Given the description of an element on the screen output the (x, y) to click on. 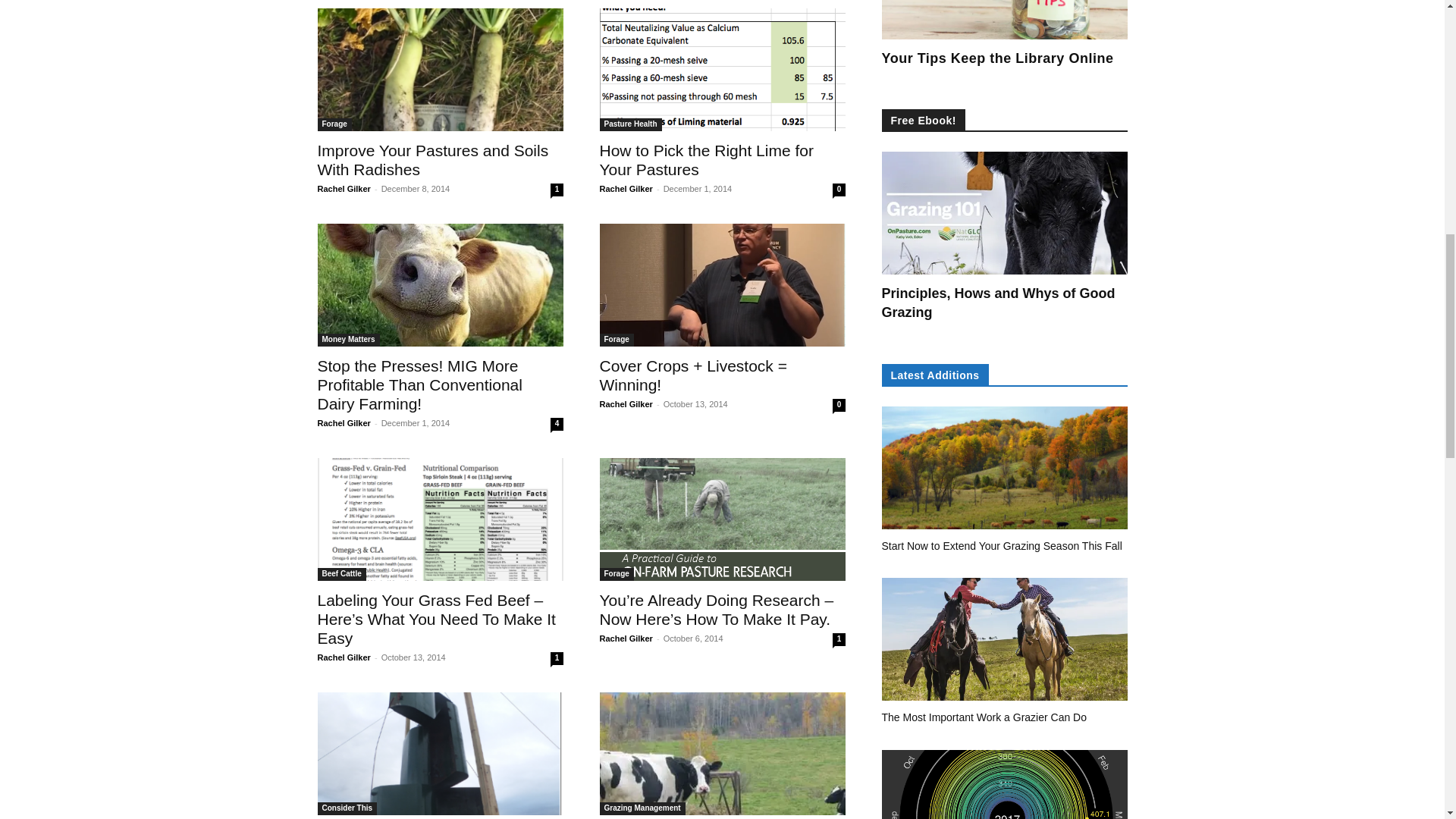
How to Pick the Right Lime for Your Pastures (705, 159)
Improve Your Pastures and Soils With Radishes (439, 69)
Improve Your Pastures and Soils With Radishes (432, 159)
How to Pick the Right Lime for Your Pastures (721, 69)
